Given the description of an element on the screen output the (x, y) to click on. 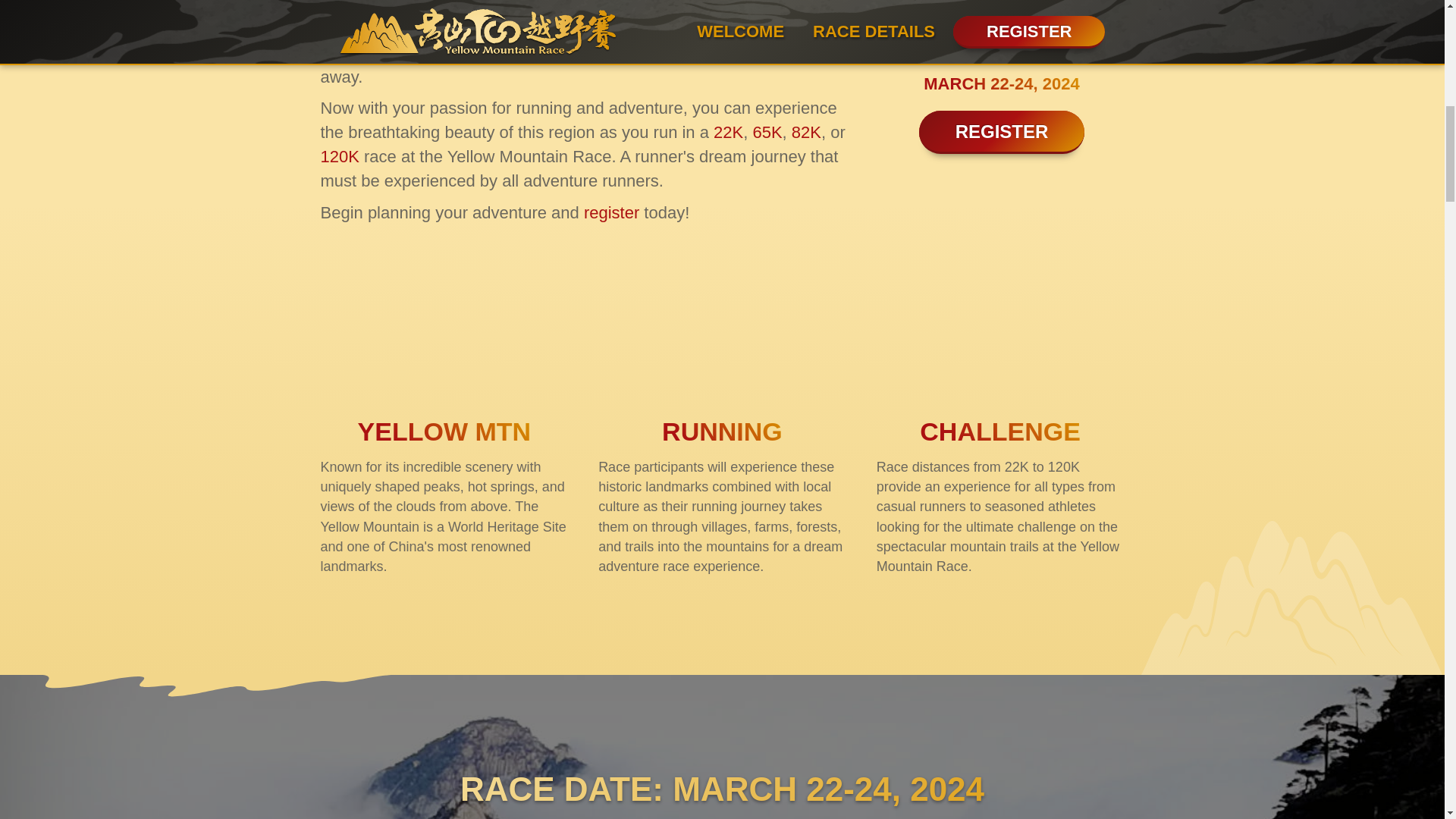
82K (806, 131)
Yellow Mountain Race (443, 332)
REGISTER (1001, 131)
Runner (721, 332)
taipinglake100-45 (1000, 332)
register (611, 212)
22K (727, 131)
Yellow Mountain Race (1001, 11)
120K (339, 156)
65K (766, 131)
